Given the description of an element on the screen output the (x, y) to click on. 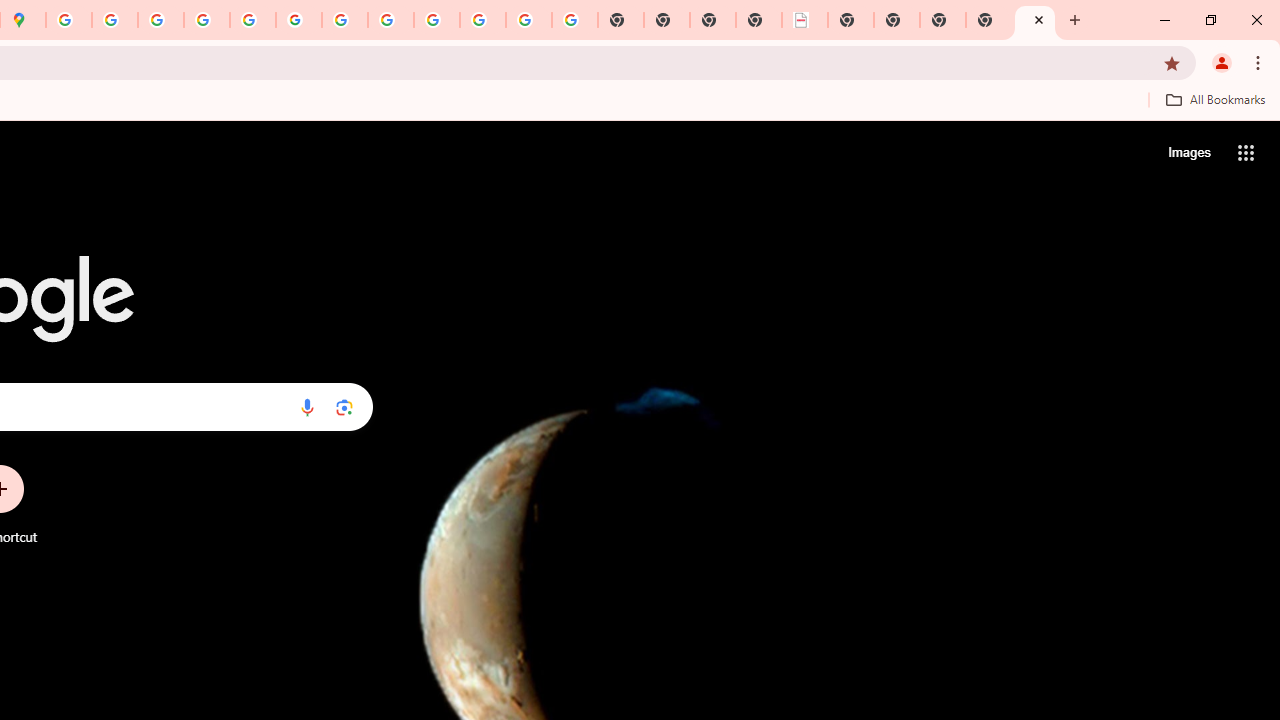
YouTube (345, 20)
Search by image (344, 407)
Search by voice (307, 407)
All Bookmarks (1215, 99)
LAAD Defence & Security 2025 | BAE Systems (805, 20)
New Tab (989, 20)
